Given the description of an element on the screen output the (x, y) to click on. 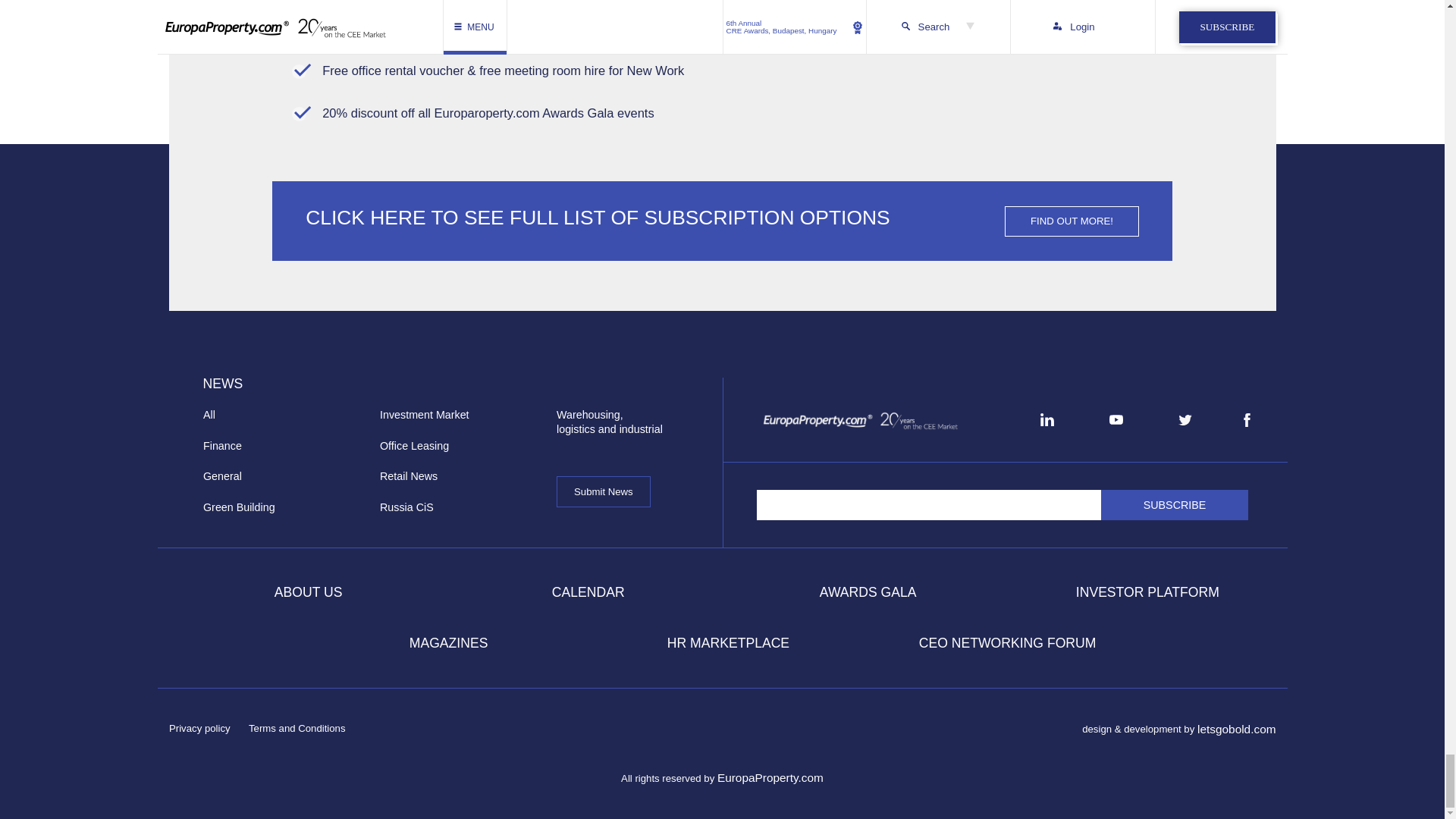
LinkedIn (1047, 419)
Subscribe (1174, 504)
Twitter (1184, 419)
YouTube (1116, 419)
